Given the description of an element on the screen output the (x, y) to click on. 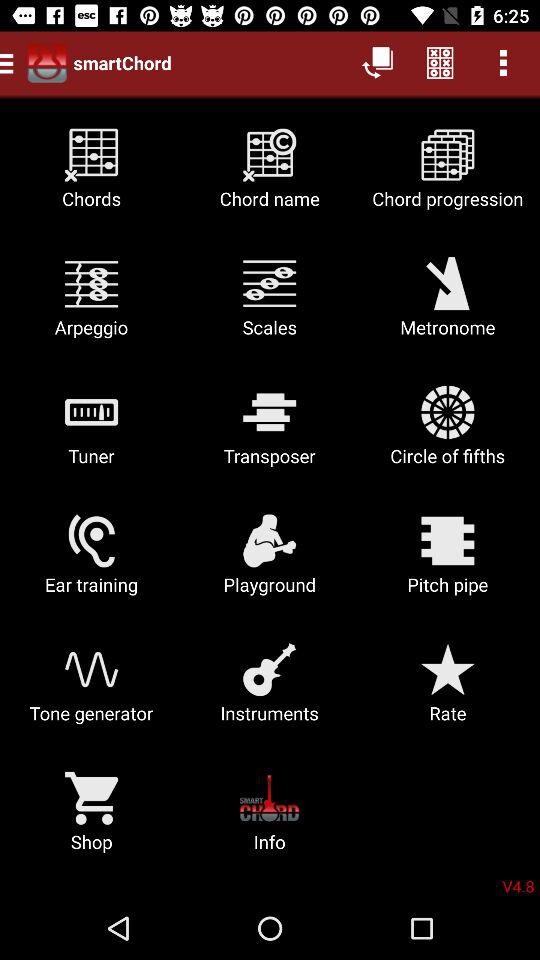
select the ear training (91, 561)
